Given the description of an element on the screen output the (x, y) to click on. 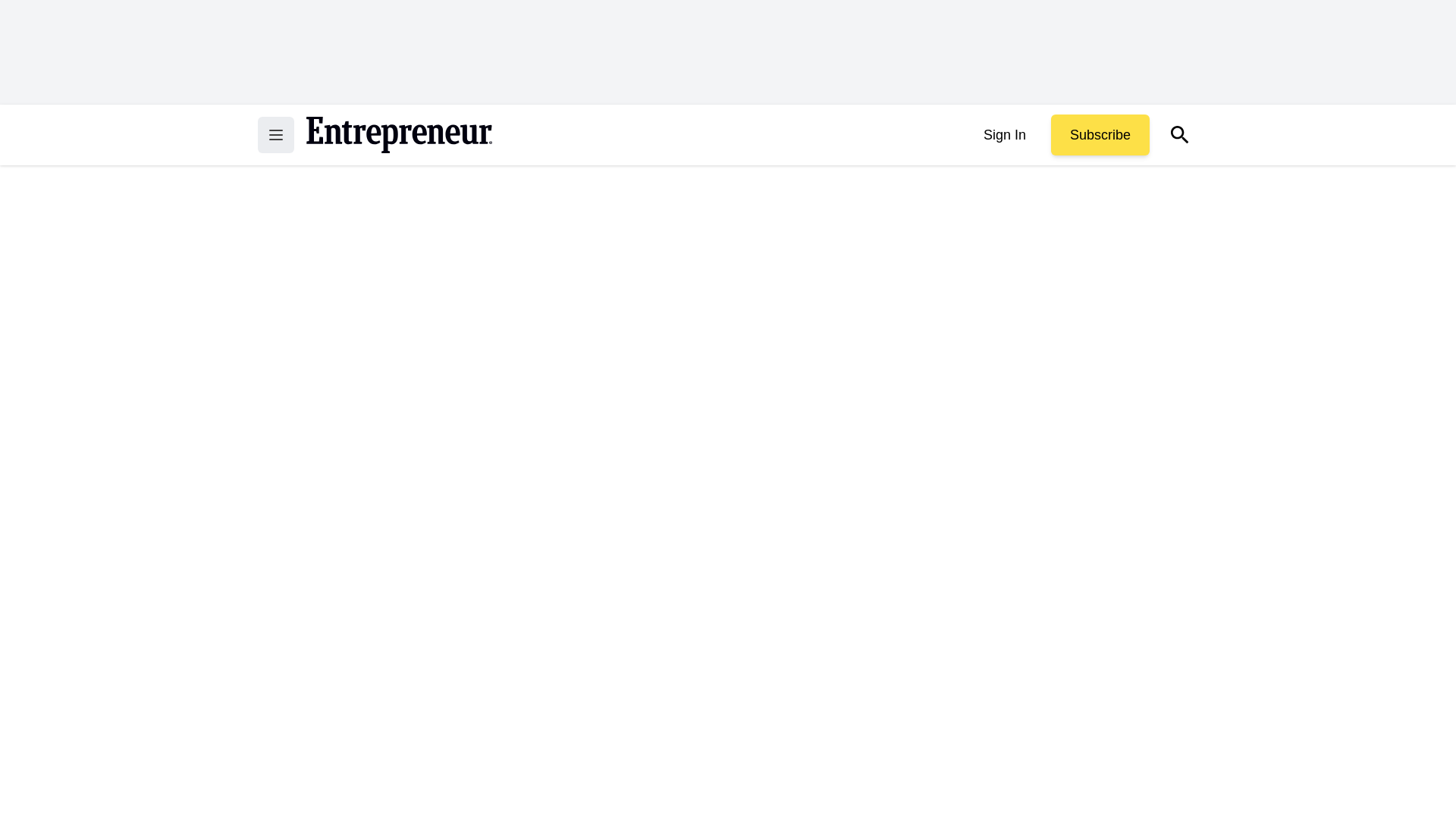
Sign In (1004, 134)
Subscribe (1100, 134)
Return to the home page (398, 135)
